Given the description of an element on the screen output the (x, y) to click on. 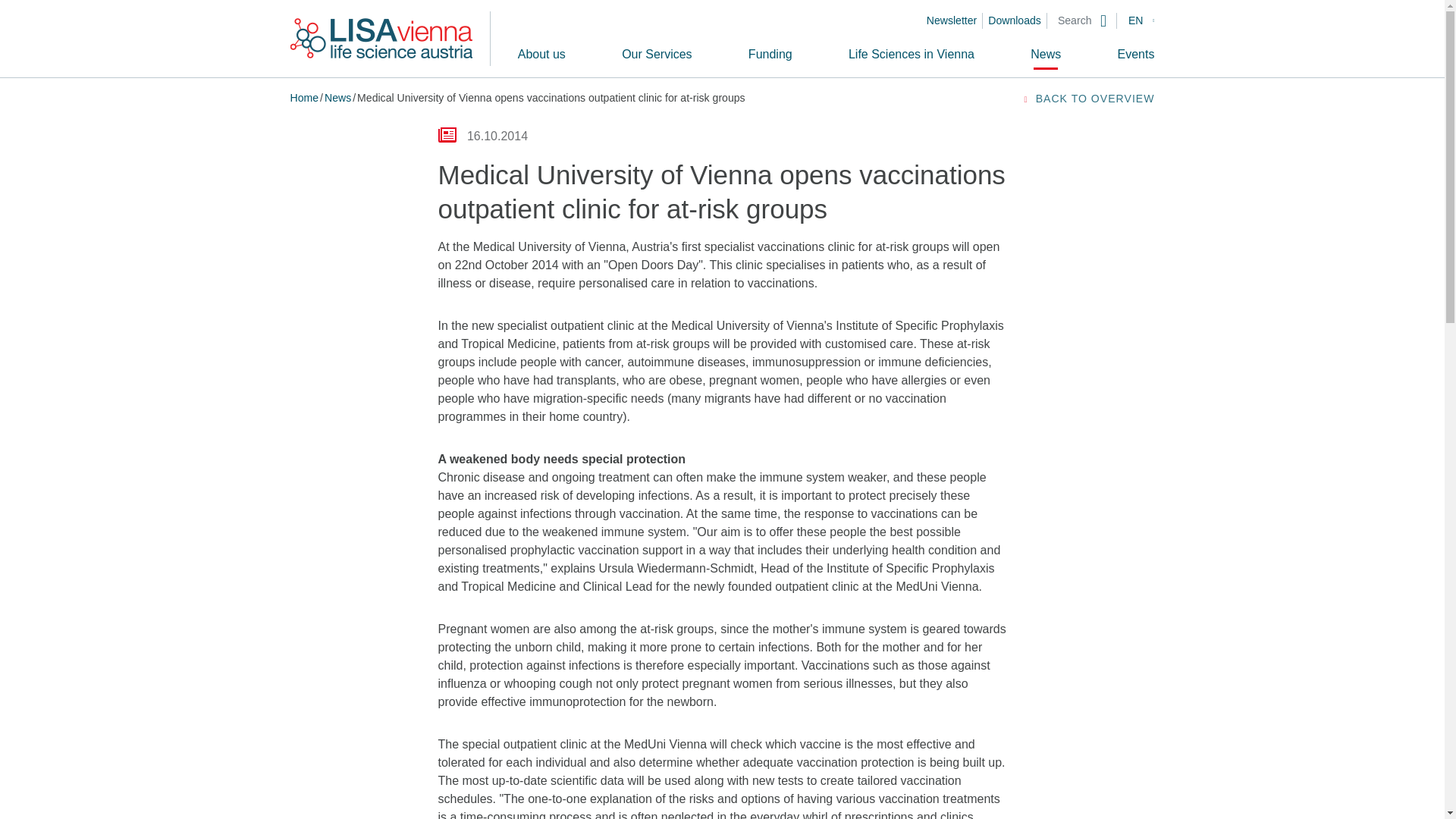
Newsletter (957, 20)
Home (303, 97)
Funding (770, 54)
News (1045, 54)
Funding (770, 54)
BACK TO OVERVIEW (1087, 98)
About us (542, 54)
Downloads (1020, 20)
Life Sciences in Vienna (911, 54)
EN (1141, 20)
